Given the description of an element on the screen output the (x, y) to click on. 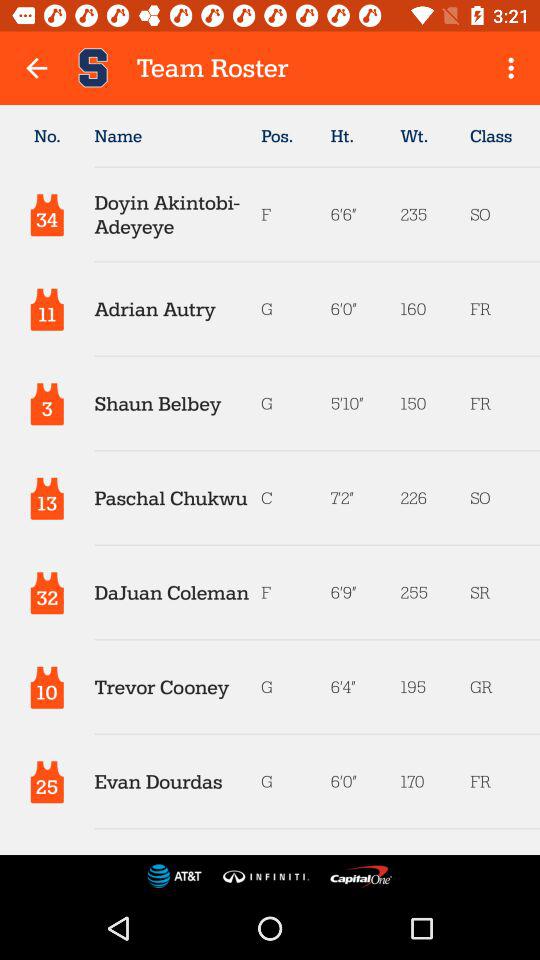
turn on the item to the right of the team roster (513, 67)
